Given the description of an element on the screen output the (x, y) to click on. 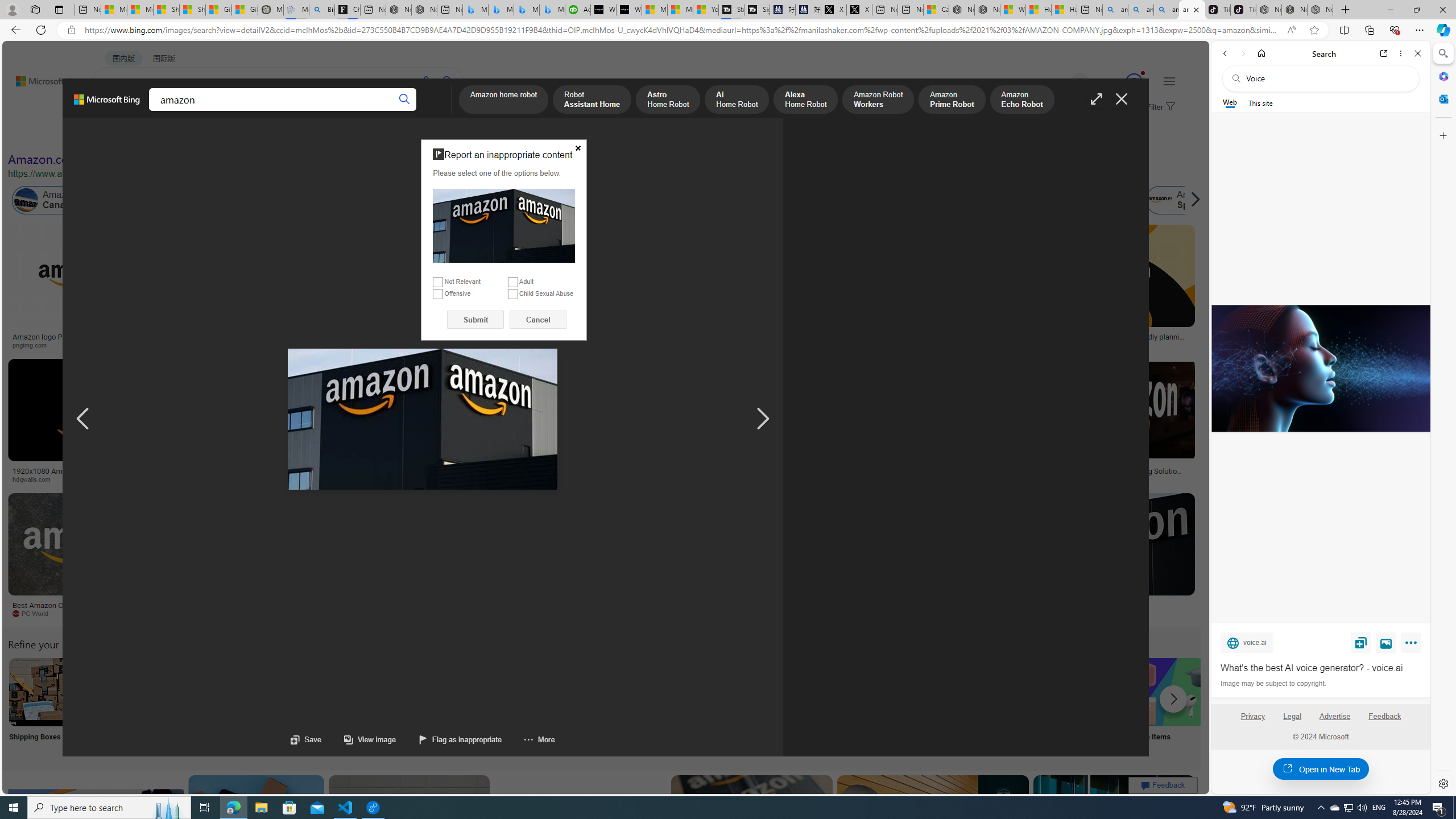
Report an inappropriate content (503, 226)
Image may be subject to copyright. (1273, 682)
Image size (126, 135)
WEB (114, 111)
theverge.com (1118, 344)
protothema.gr (1043, 612)
Legal (1291, 715)
DICT (357, 111)
